Given the description of an element on the screen output the (x, y) to click on. 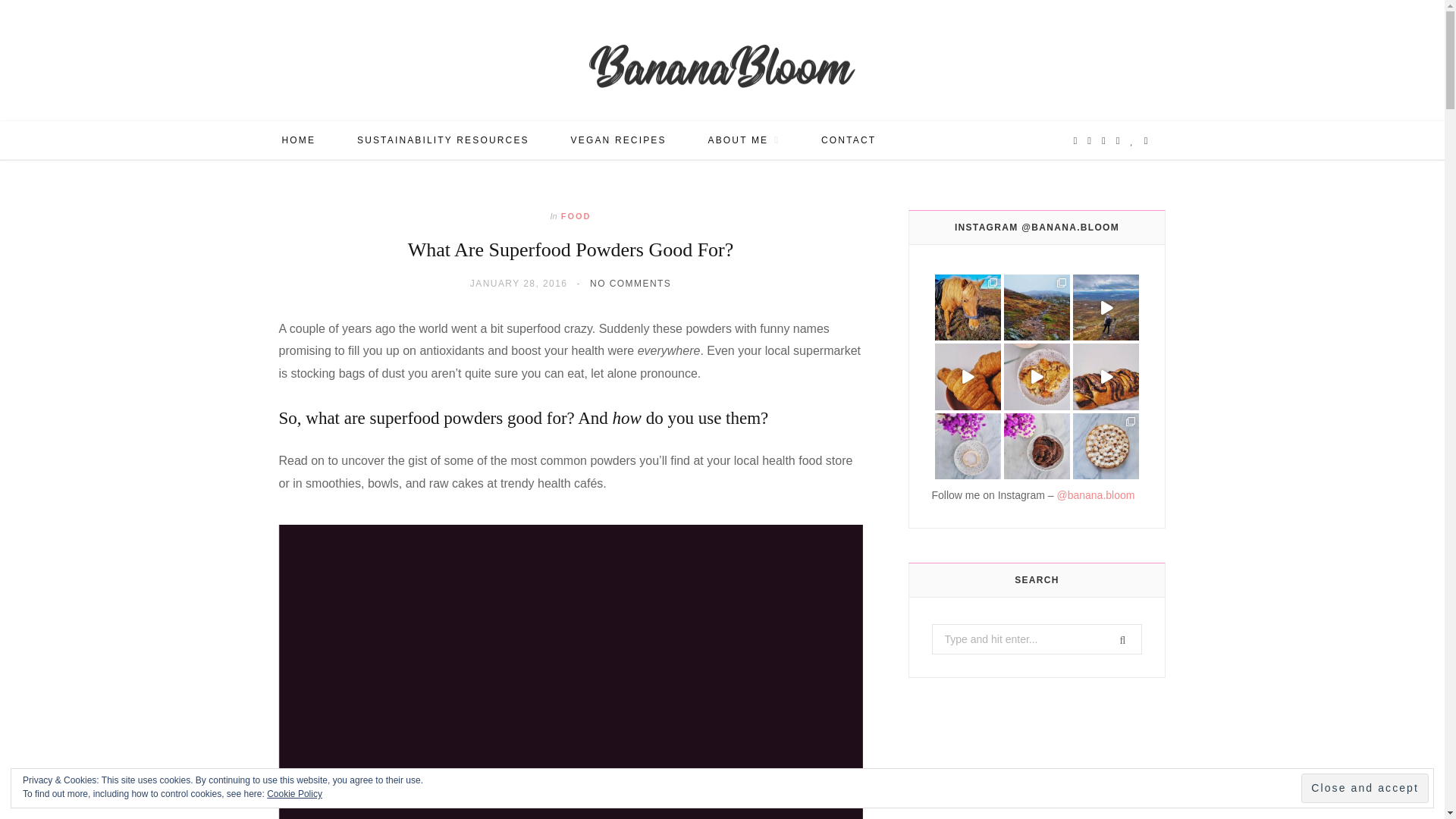
Close and accept (1364, 788)
CONTACT (848, 140)
Banana Bloom (722, 63)
FOOD (575, 215)
VEGAN RECIPES (618, 140)
HOME (298, 140)
JANUARY 28, 2016 (518, 283)
NO COMMENTS (630, 283)
ABOUT ME (743, 140)
Search for: (1036, 639)
